Given the description of an element on the screen output the (x, y) to click on. 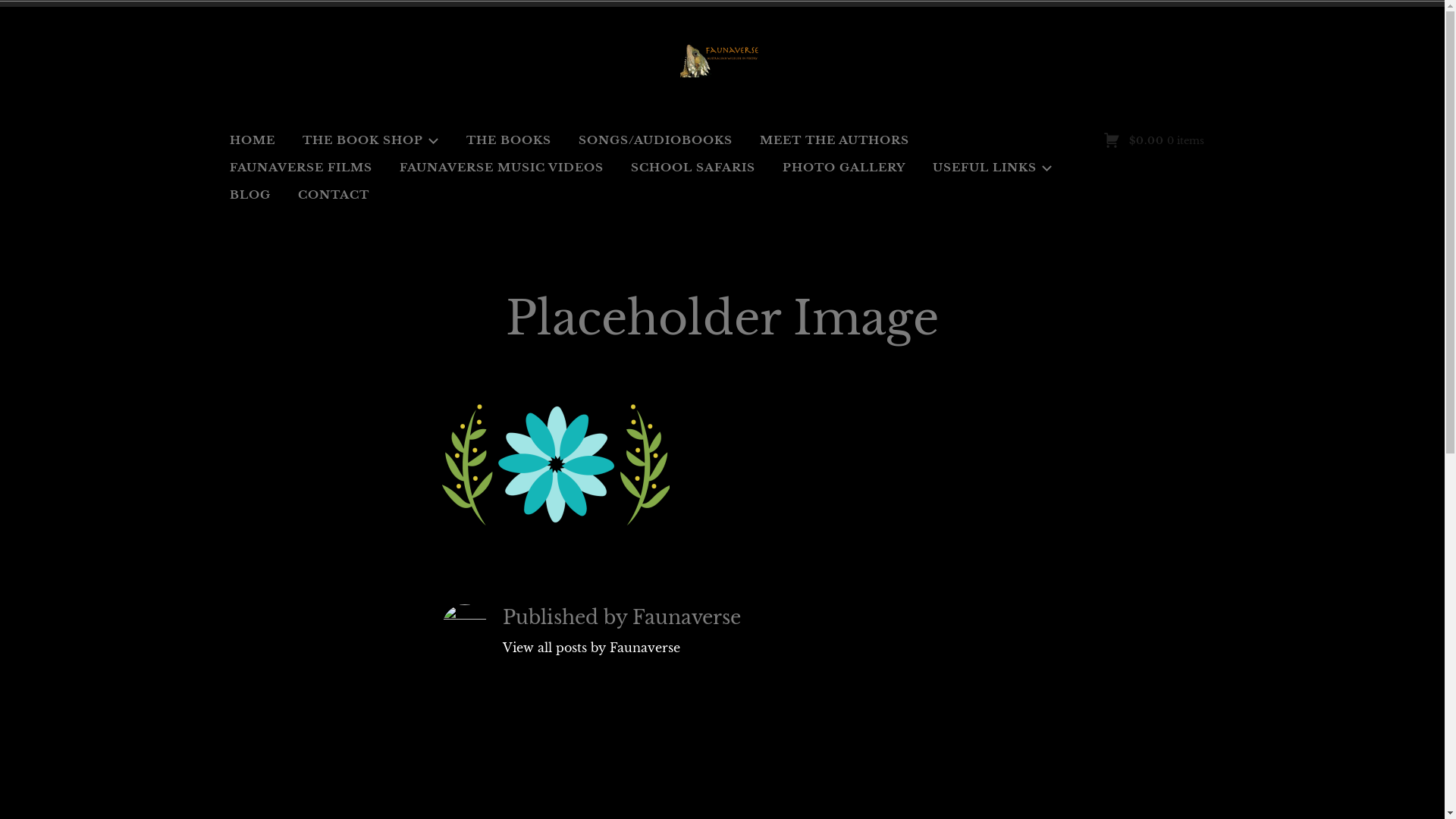
SONGS/AUDIOBOOKS Element type: text (655, 139)
FAUNAVERSE MUSIC VIDEOS Element type: text (501, 167)
FAUNAVERSE FILMS Element type: text (300, 167)
SCHOOL SAFARIS Element type: text (691, 167)
PHOTO GALLERY Element type: text (843, 167)
CONTACT Element type: text (333, 194)
Search Element type: text (32, 13)
THE BOOK SHOP Element type: text (370, 139)
BLOG Element type: text (250, 194)
MEET THE AUTHORS Element type: text (833, 139)
USEFUL LINKS Element type: text (991, 167)
View all posts by Faunaverse Element type: text (631, 647)
HOME Element type: text (252, 139)
VIEW YOUR SHOPPING CART $0.00 0 items Element type: text (1152, 141)
THE BOOKS Element type: text (508, 139)
